Given the description of an element on the screen output the (x, y) to click on. 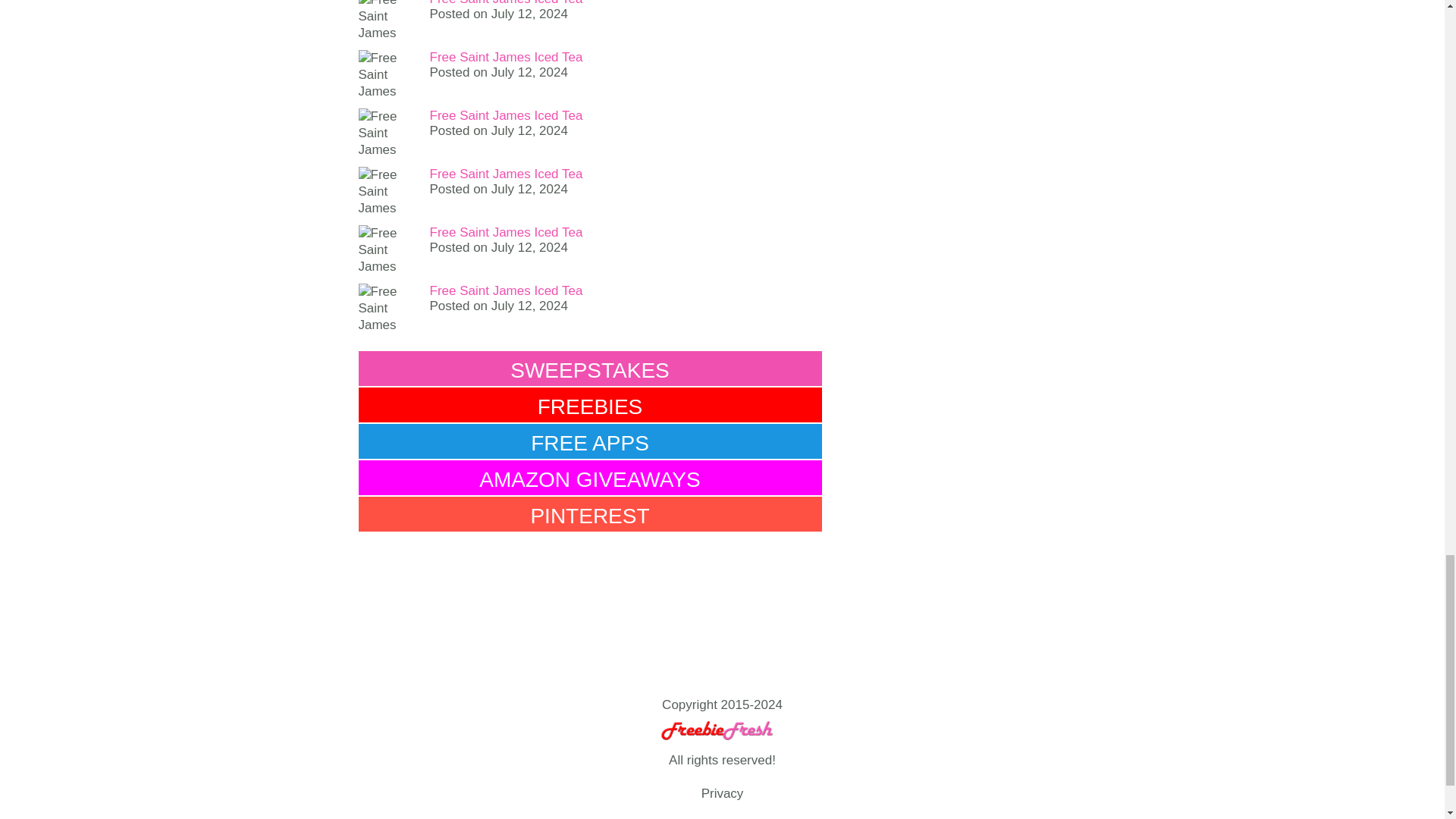
FREEBIES (589, 404)
SWEEPSTAKES (589, 368)
FREE APPS (589, 441)
Free Saint James Iced Tea (505, 56)
AMAZON GIVEAWAYS (589, 477)
Free Saint James Iced Tea (505, 173)
PINTEREST (589, 513)
Free Saint James Iced Tea (505, 2)
Free Saint James Iced Tea (505, 232)
Free Saint James Iced Tea (505, 290)
Free Saint James Iced Tea (505, 115)
